Given the description of an element on the screen output the (x, y) to click on. 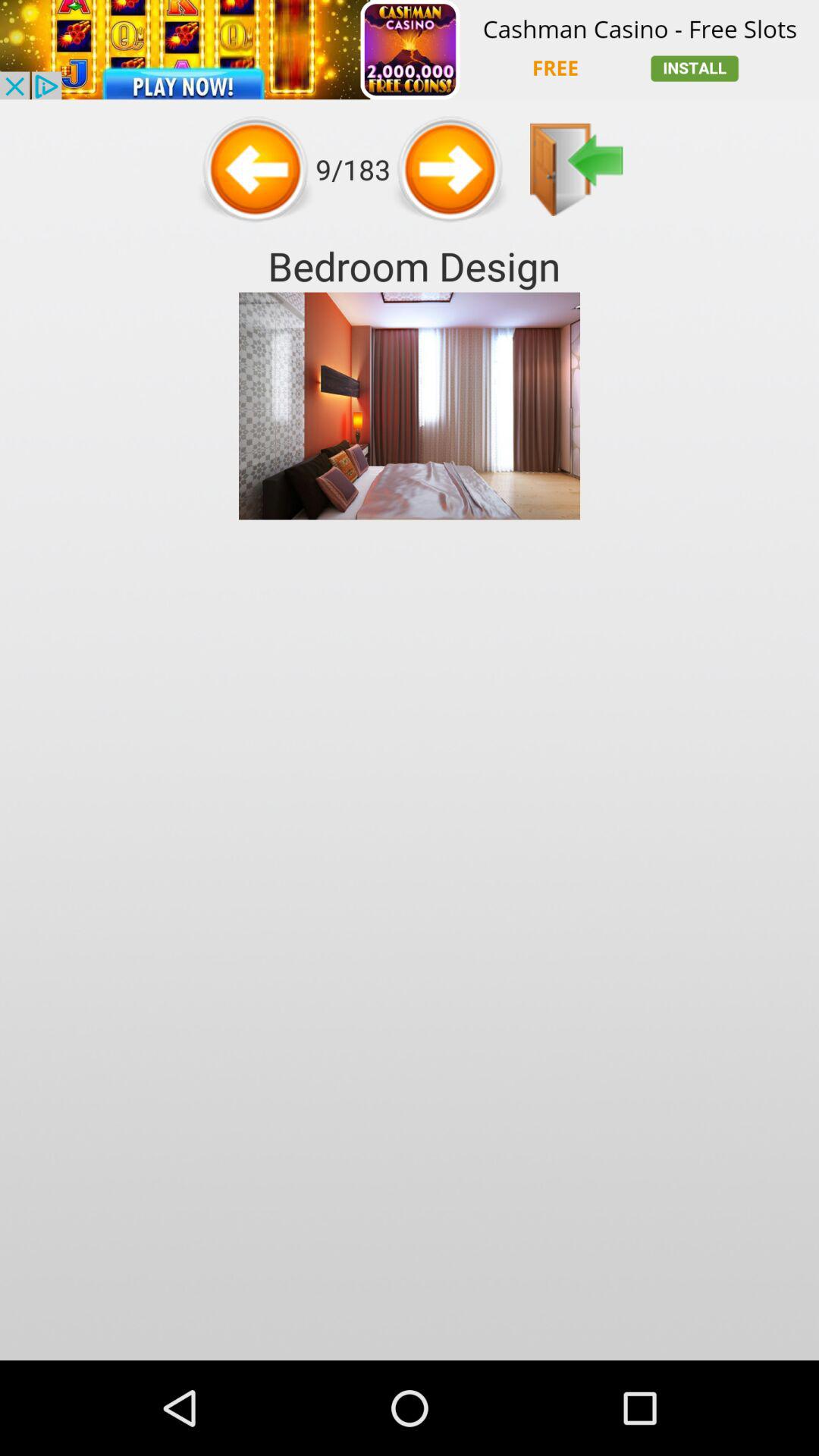
go to previous page (255, 169)
